Given the description of an element on the screen output the (x, y) to click on. 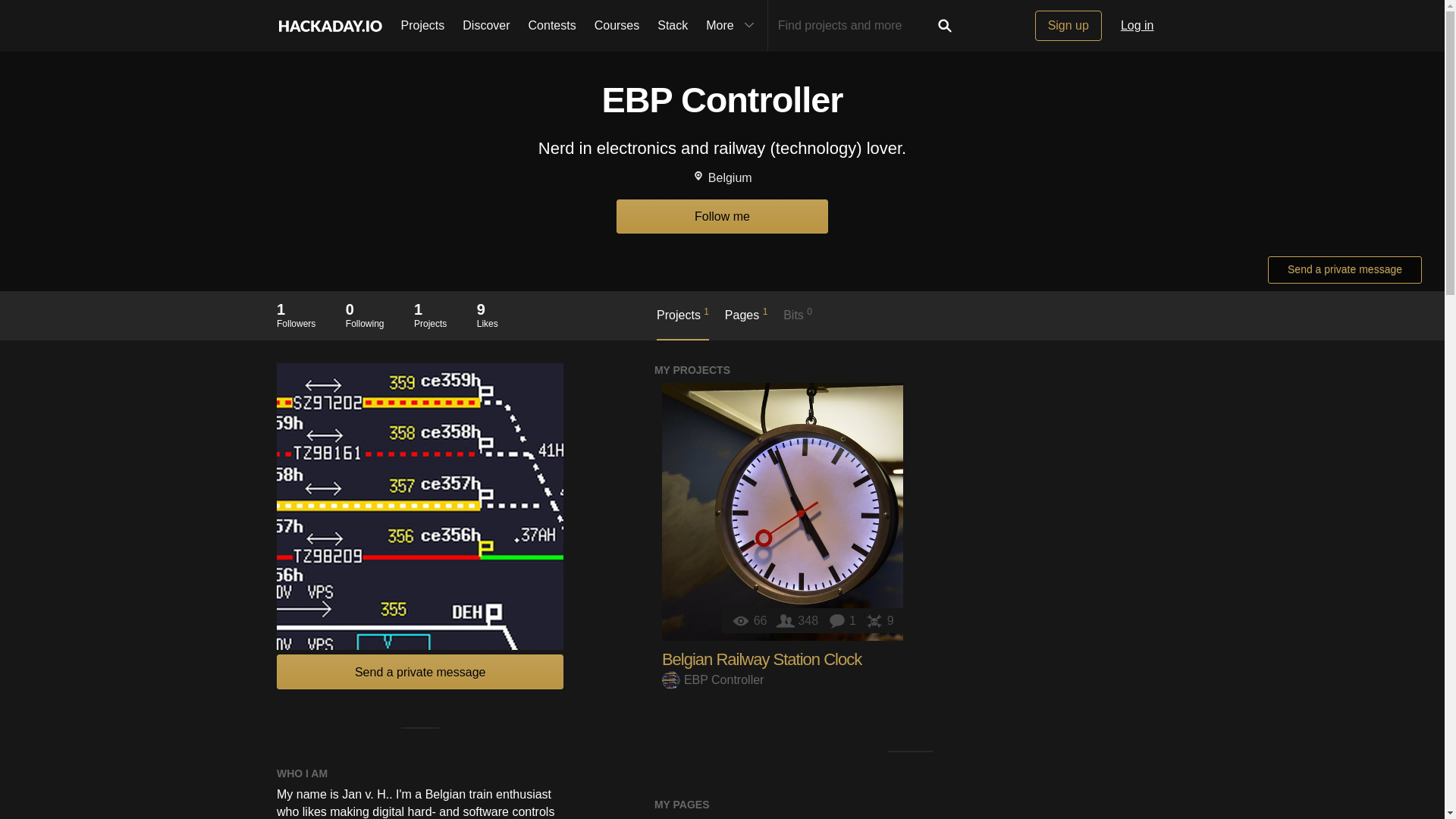
Courses (617, 25)
More (429, 314)
Contests (295, 314)
Comments (732, 25)
Send a private message (552, 25)
Follow me (844, 620)
Pages 1 (419, 671)
Likes (721, 216)
Search (746, 322)
Stack (878, 620)
Sign up (944, 25)
Two characters minimum (672, 25)
Projects 1 (1068, 25)
